Given the description of an element on the screen output the (x, y) to click on. 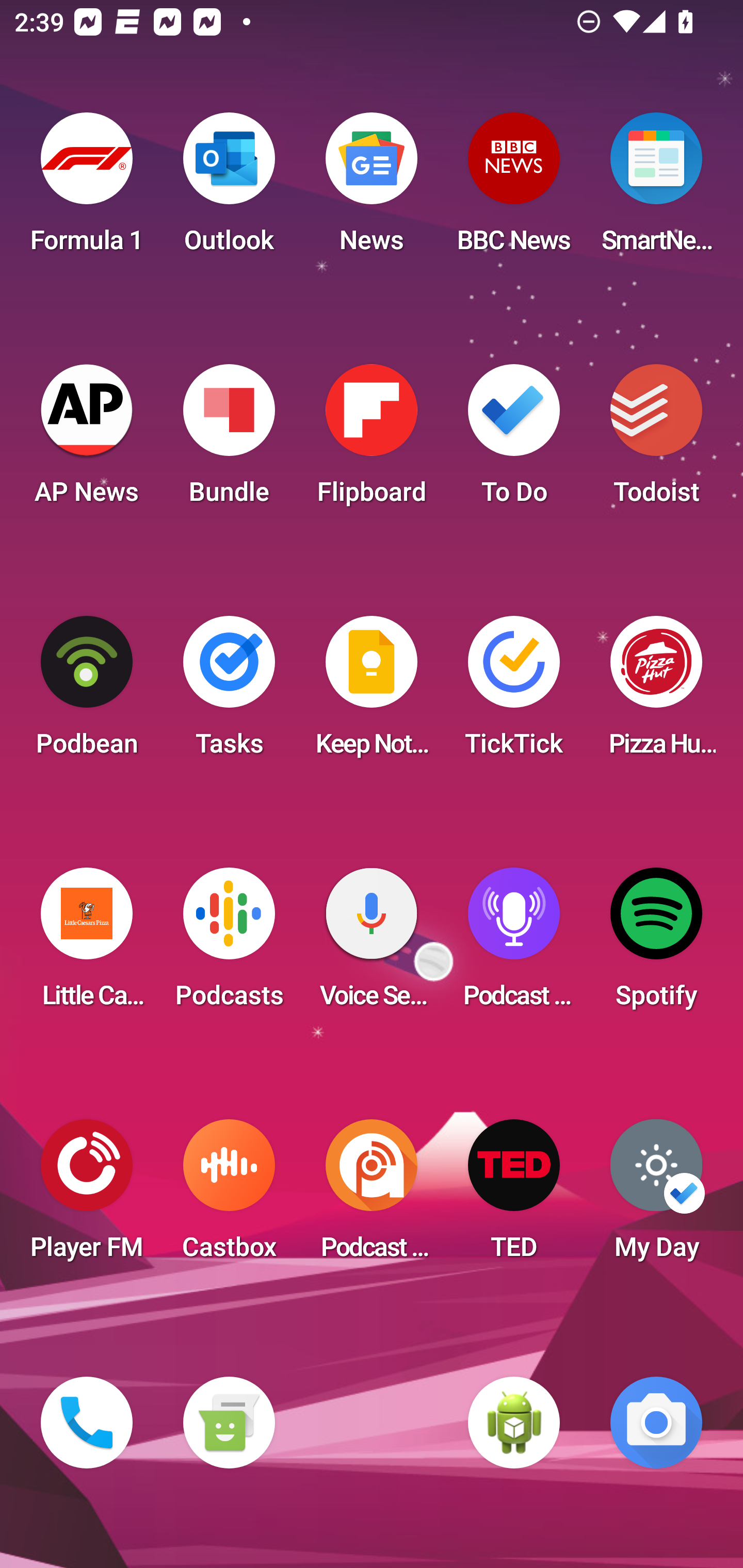
Formula 1 (86, 188)
Outlook (228, 188)
News (371, 188)
BBC News (513, 188)
SmartNews (656, 188)
AP News (86, 440)
Bundle (228, 440)
Flipboard (371, 440)
To Do (513, 440)
Todoist (656, 440)
Podbean (86, 692)
Tasks (228, 692)
Keep Notes (371, 692)
TickTick (513, 692)
Pizza Hut HK & Macau (656, 692)
Little Caesars Pizza (86, 943)
Podcasts (228, 943)
Voice Search (371, 943)
Podcast Player (513, 943)
Spotify (656, 943)
Player FM (86, 1195)
Castbox (228, 1195)
Podcast Addict (371, 1195)
TED (513, 1195)
My Day (656, 1195)
Phone (86, 1422)
Messaging (228, 1422)
WebView Browser Tester (513, 1422)
Camera (656, 1422)
